Given the description of an element on the screen output the (x, y) to click on. 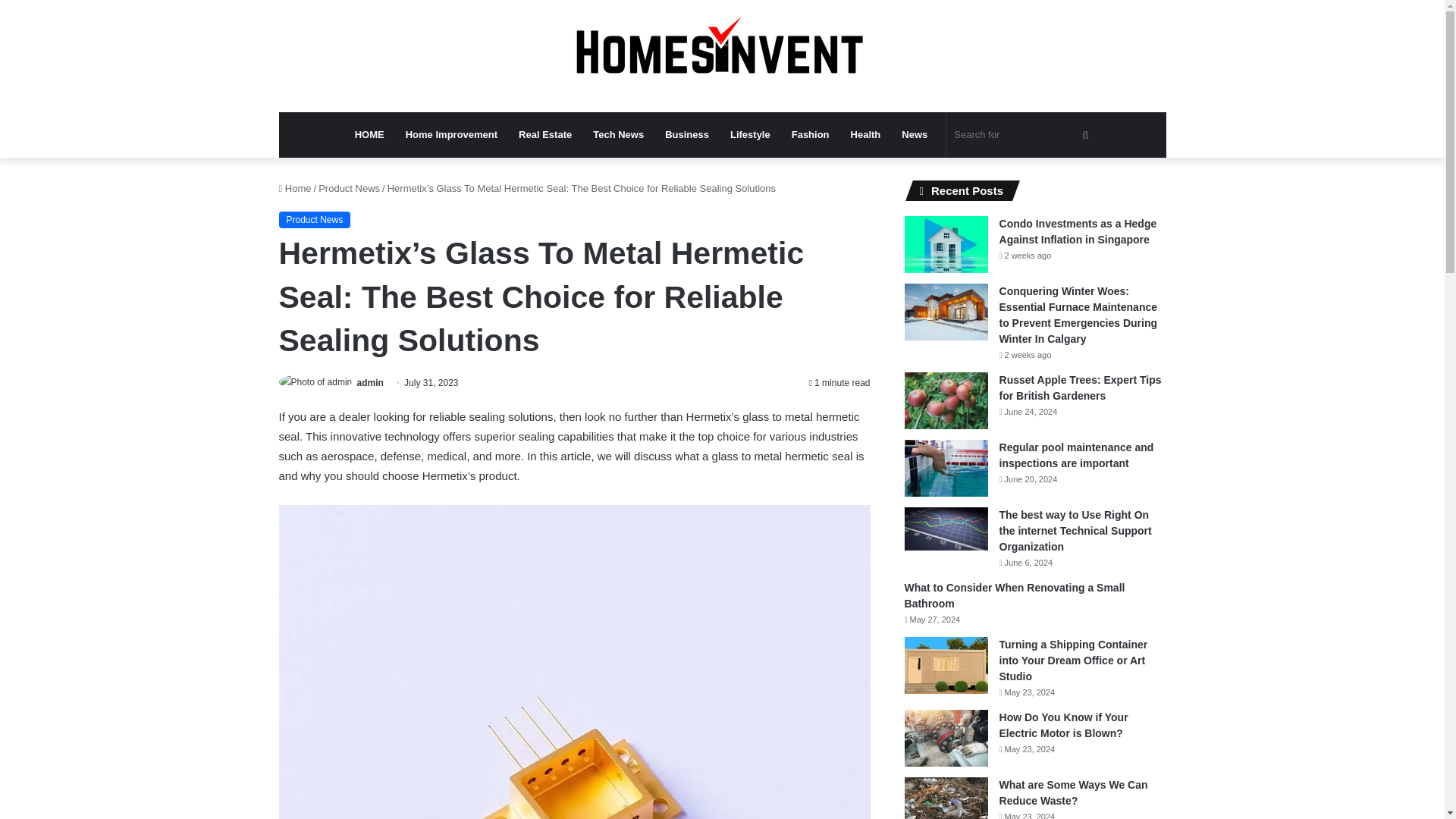
admin (370, 382)
Home Improvement (451, 135)
HomesInvent.com (721, 56)
Fashion (810, 135)
HOME (368, 135)
Real Estate (545, 135)
News (914, 135)
Search for (1023, 135)
Product News (349, 188)
Health (865, 135)
Lifestyle (749, 135)
Product News (314, 219)
admin (370, 382)
Home (295, 188)
Business (686, 135)
